Given the description of an element on the screen output the (x, y) to click on. 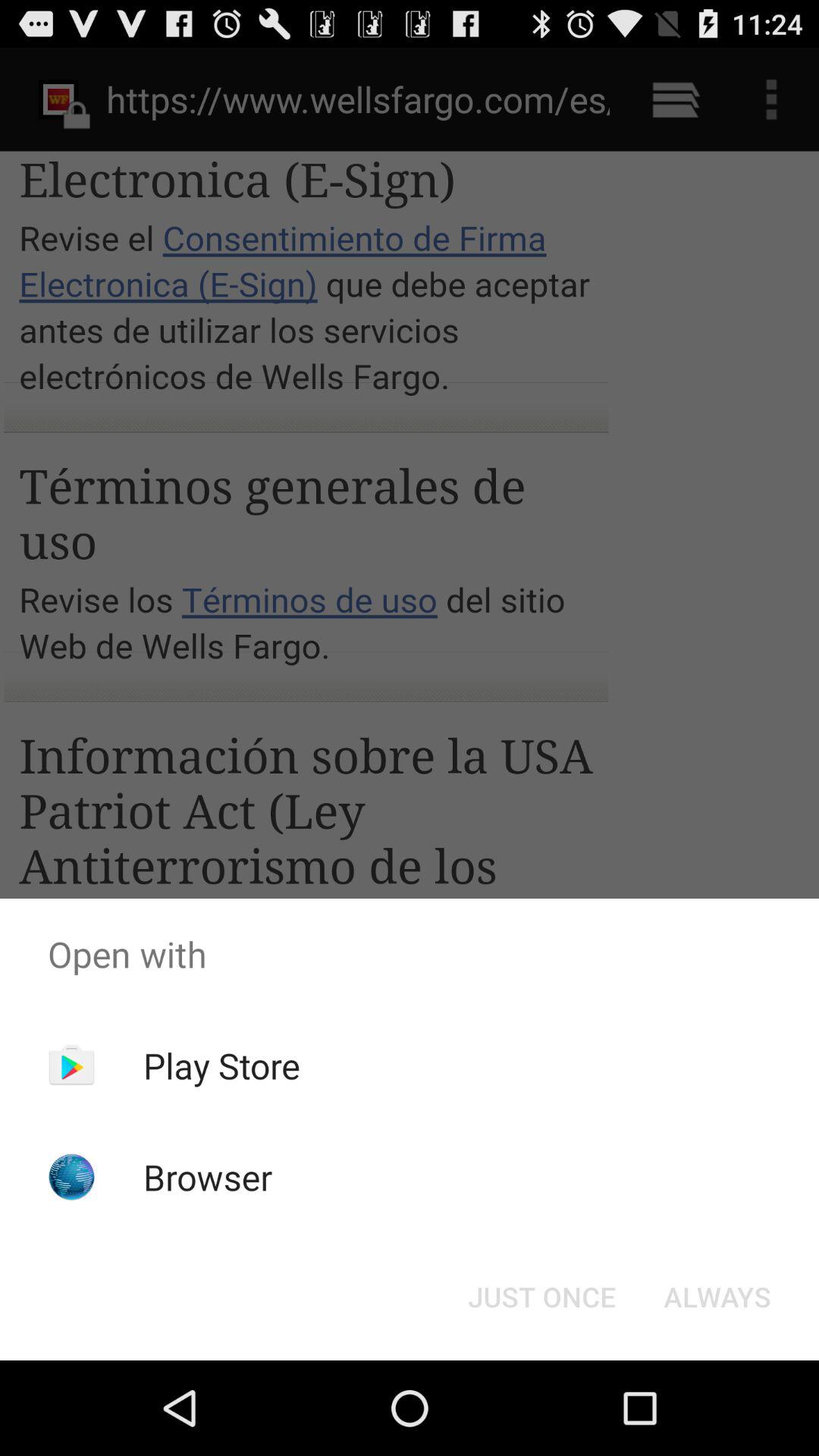
turn off item next to just once icon (717, 1296)
